Given the description of an element on the screen output the (x, y) to click on. 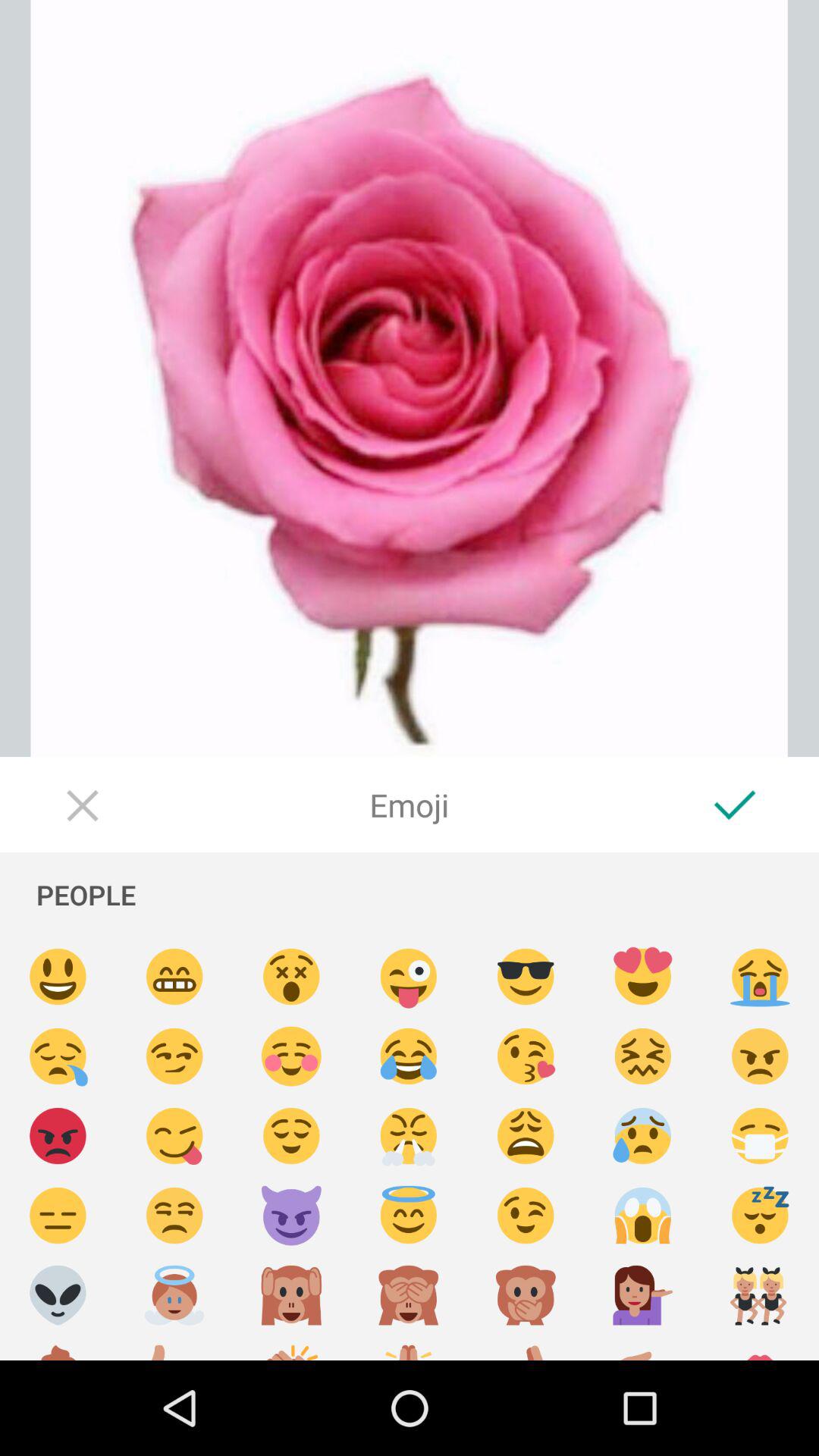
fustrated face emoji (642, 1056)
